Given the description of an element on the screen output the (x, y) to click on. 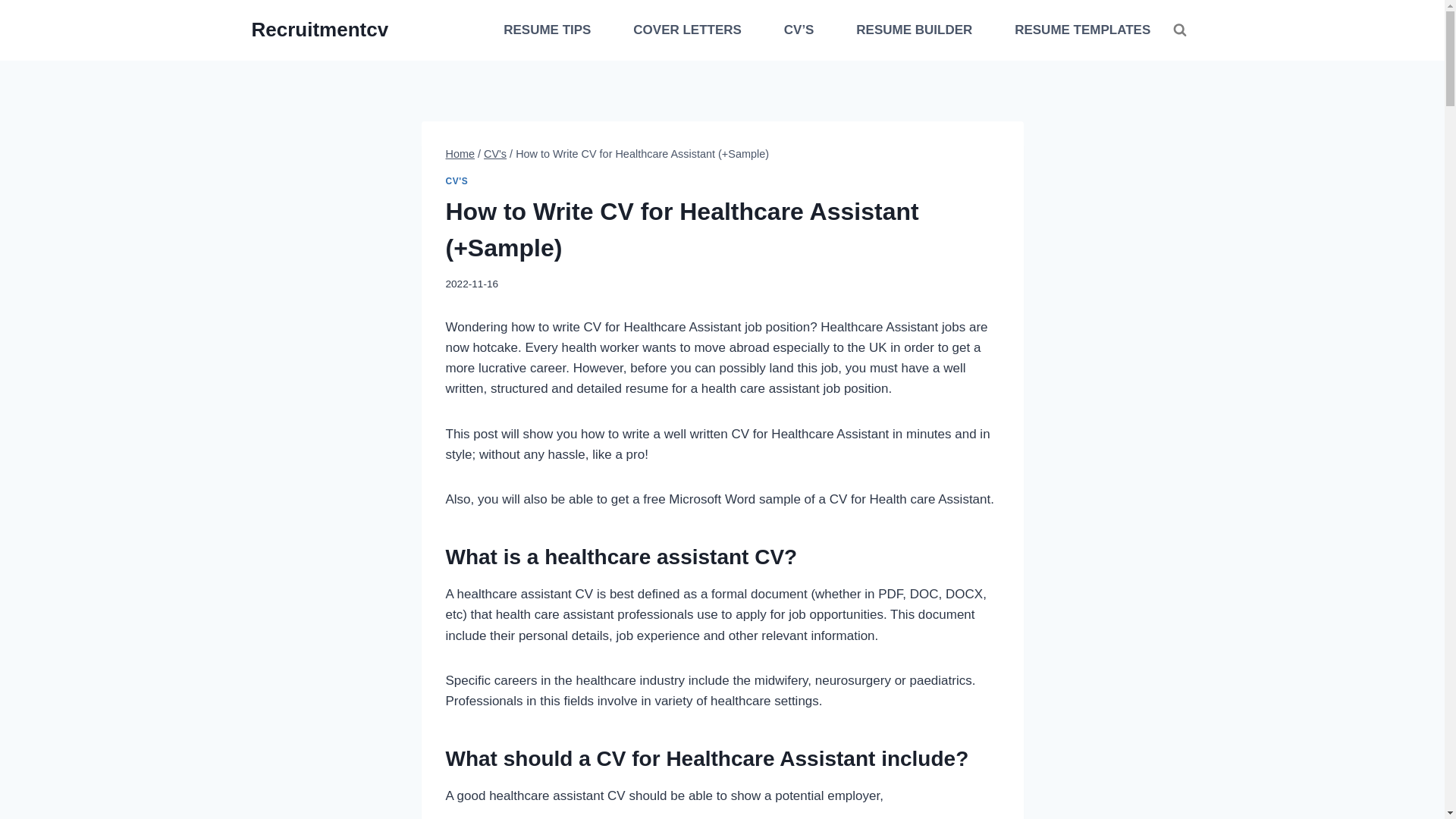
CV'S (456, 181)
RESUME BUILDER (913, 30)
COVER LETTERS (687, 30)
CV's (494, 153)
RESUME TIPS (547, 30)
Home (460, 153)
Recruitmentcv (319, 29)
RESUME TEMPLATES (1082, 30)
